Given the description of an element on the screen output the (x, y) to click on. 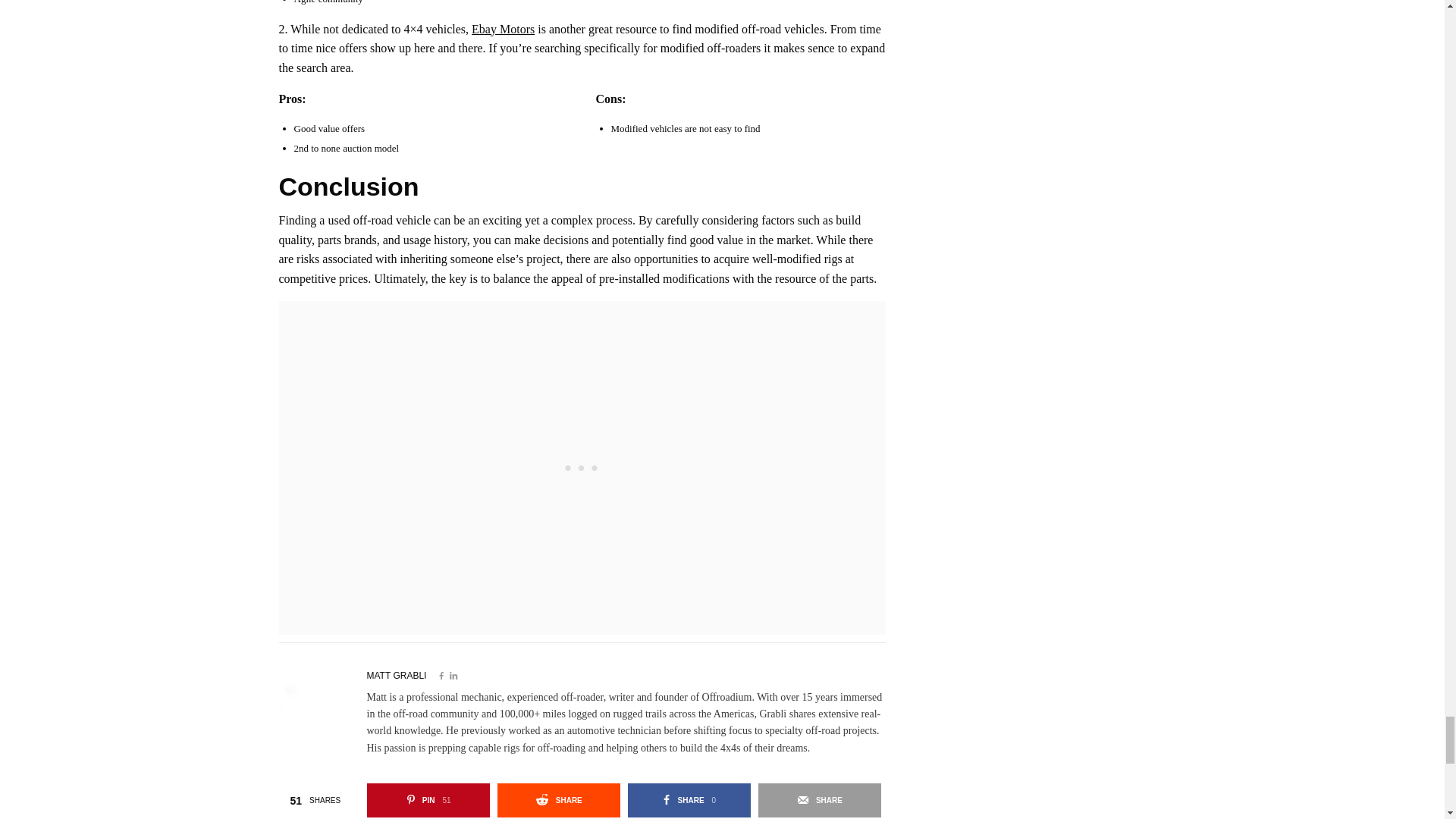
SHARE (558, 799)
SHARE (689, 799)
MATT GRABLI (819, 799)
Ebay Motors (396, 675)
